Given the description of an element on the screen output the (x, y) to click on. 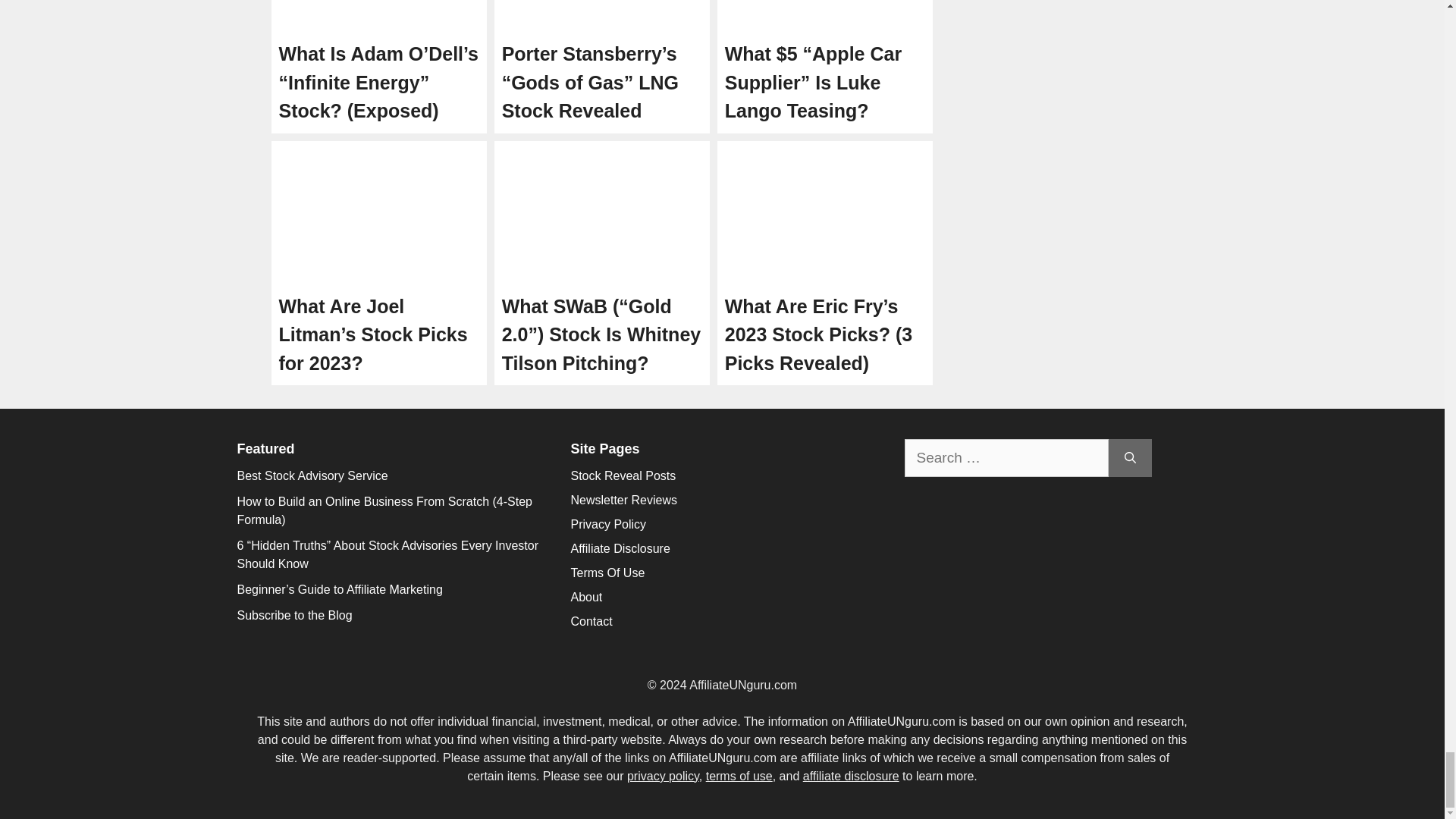
Search for: (1006, 457)
